Given the description of an element on the screen output the (x, y) to click on. 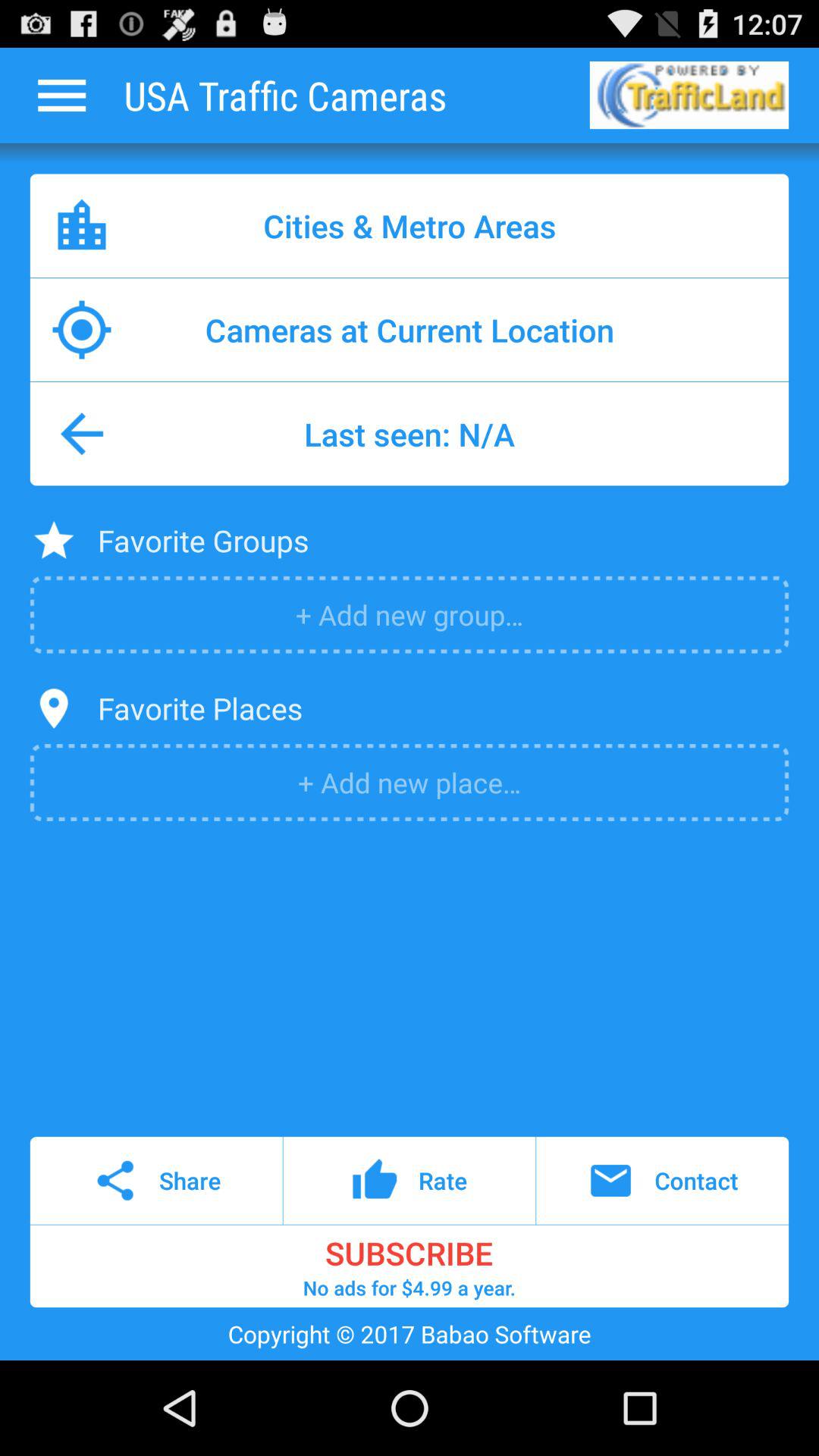
turn on app to the left of cities & metro areas item (81, 225)
